Given the description of an element on the screen output the (x, y) to click on. 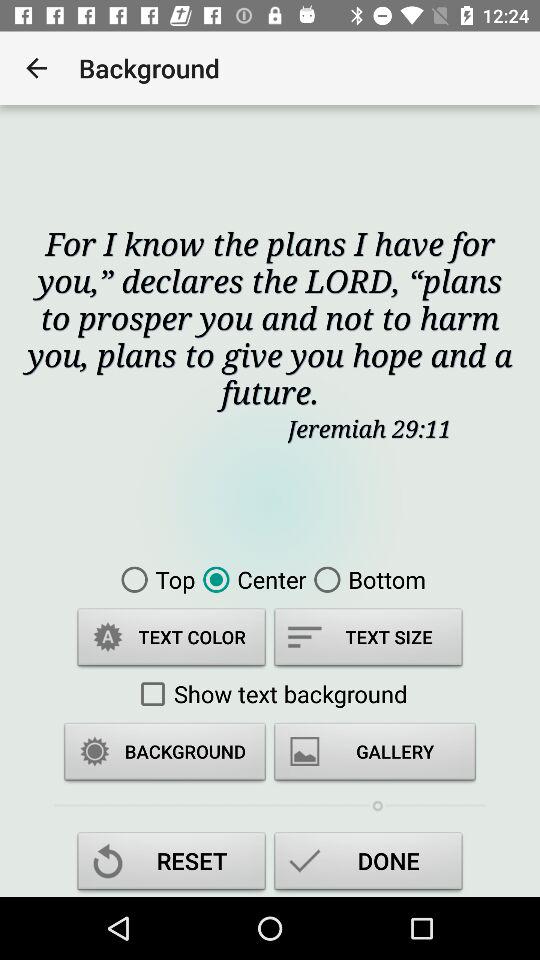
launch the show text background (269, 694)
